Given the description of an element on the screen output the (x, y) to click on. 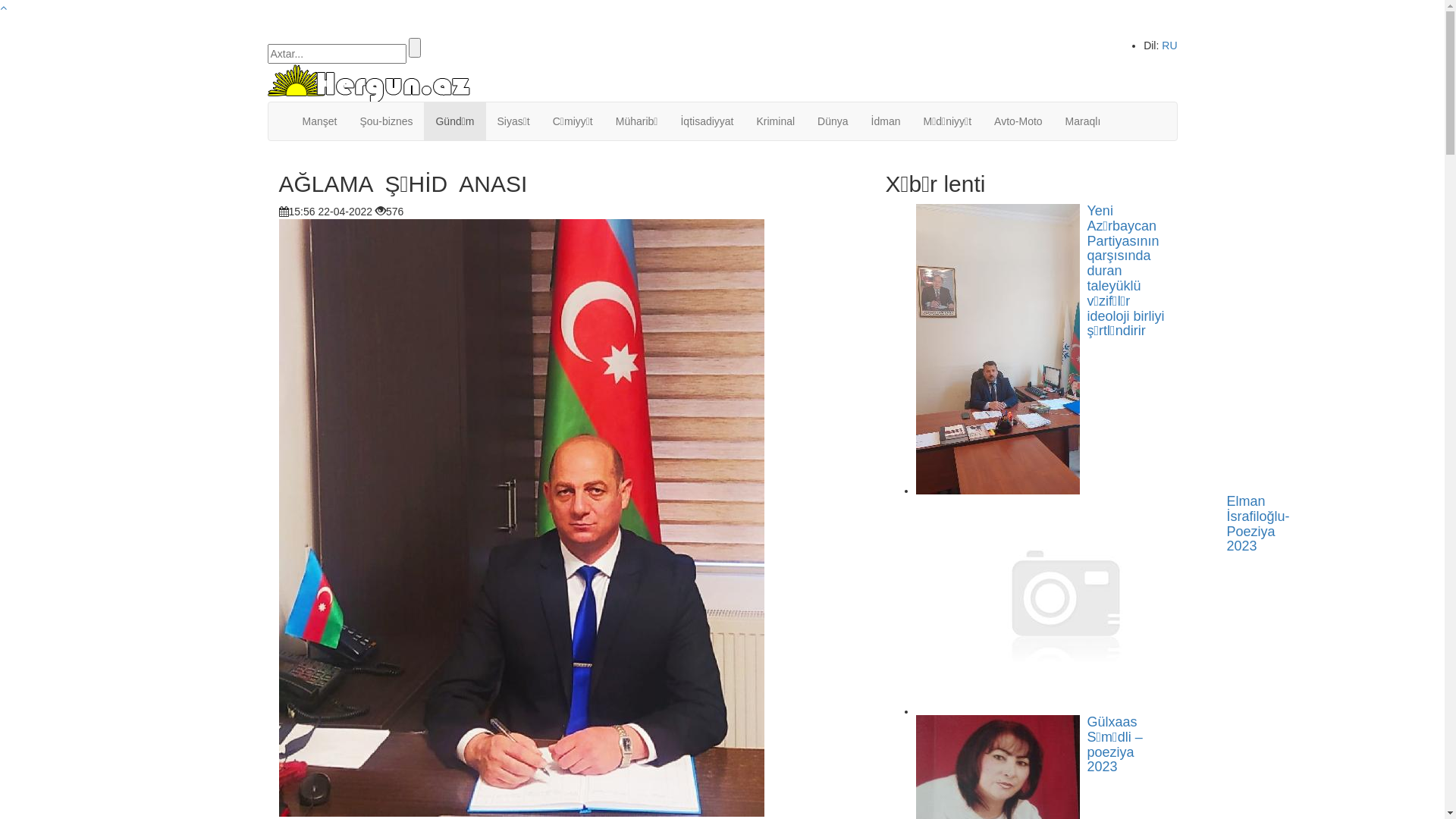
Kriminal Element type: text (775, 121)
Avto-Moto Element type: text (1018, 121)
RU Element type: text (1168, 45)
